Given the description of an element on the screen output the (x, y) to click on. 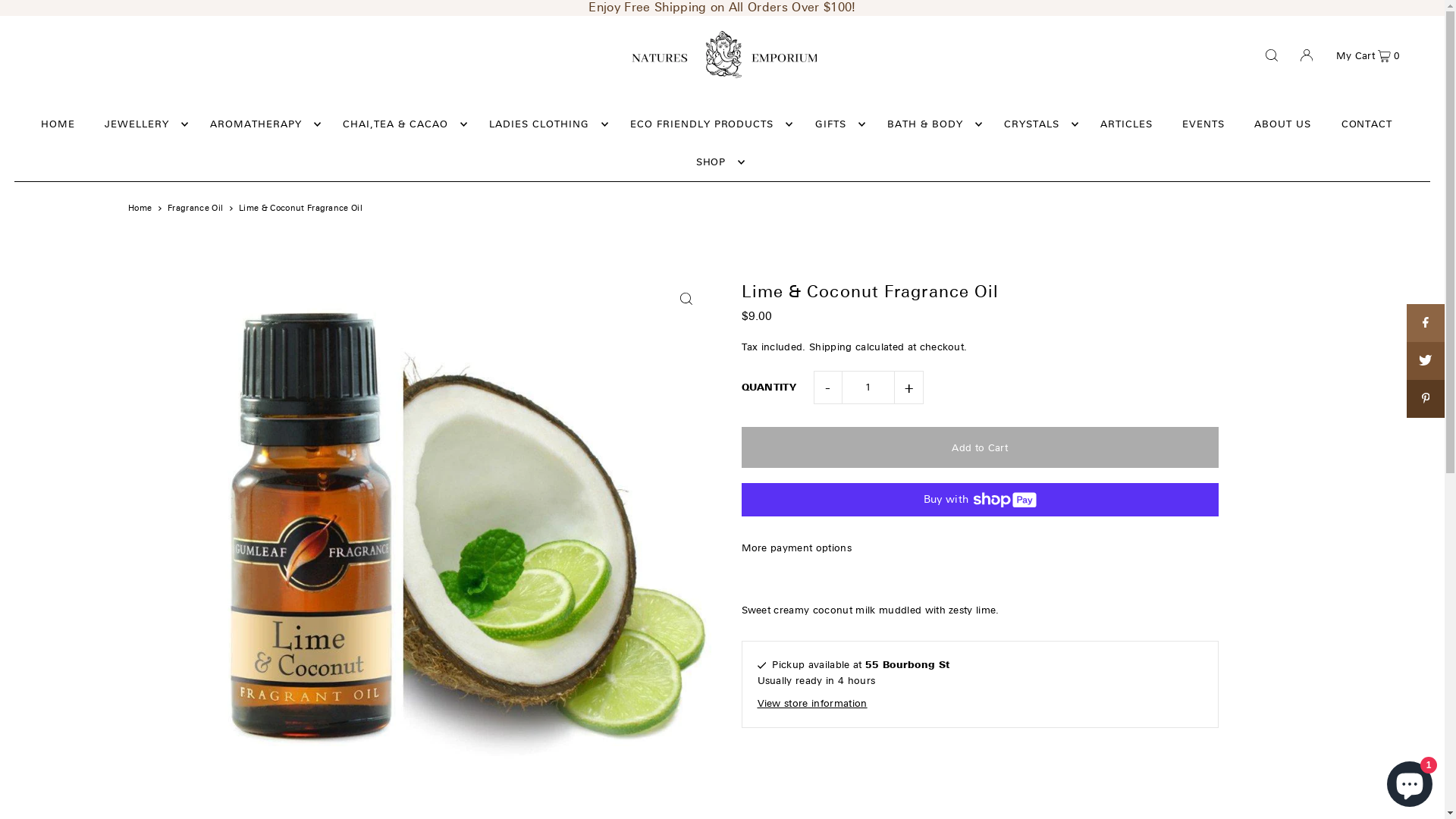
Shipping Element type: text (830, 347)
Add to Cart Element type: text (979, 446)
ARTICLES Element type: text (1126, 124)
HOME Element type: text (57, 124)
CHAI,TEA & CACAO Element type: text (401, 124)
View store information Element type: text (978, 704)
More payment options Element type: text (979, 547)
AROMATHERAPY Element type: text (261, 124)
- Element type: text (826, 387)
SHOP Element type: text (716, 162)
CONTACT Element type: text (1366, 124)
GIFTS Element type: text (836, 124)
CRYSTALS Element type: text (1037, 124)
EVENTS Element type: text (1203, 124)
Fragrance Oil Element type: text (194, 207)
+ Element type: text (908, 387)
Home Element type: text (139, 207)
LADIES CLOTHING Element type: text (544, 124)
ABOUT US Element type: text (1282, 124)
JEWELLERY Element type: text (142, 124)
Shopify online store chat Element type: hover (1409, 780)
Click to zoom Element type: hover (685, 298)
BATH & BODY Element type: text (930, 124)
ECO FRIENDLY PRODUCTS Element type: text (707, 124)
